Given the description of an element on the screen output the (x, y) to click on. 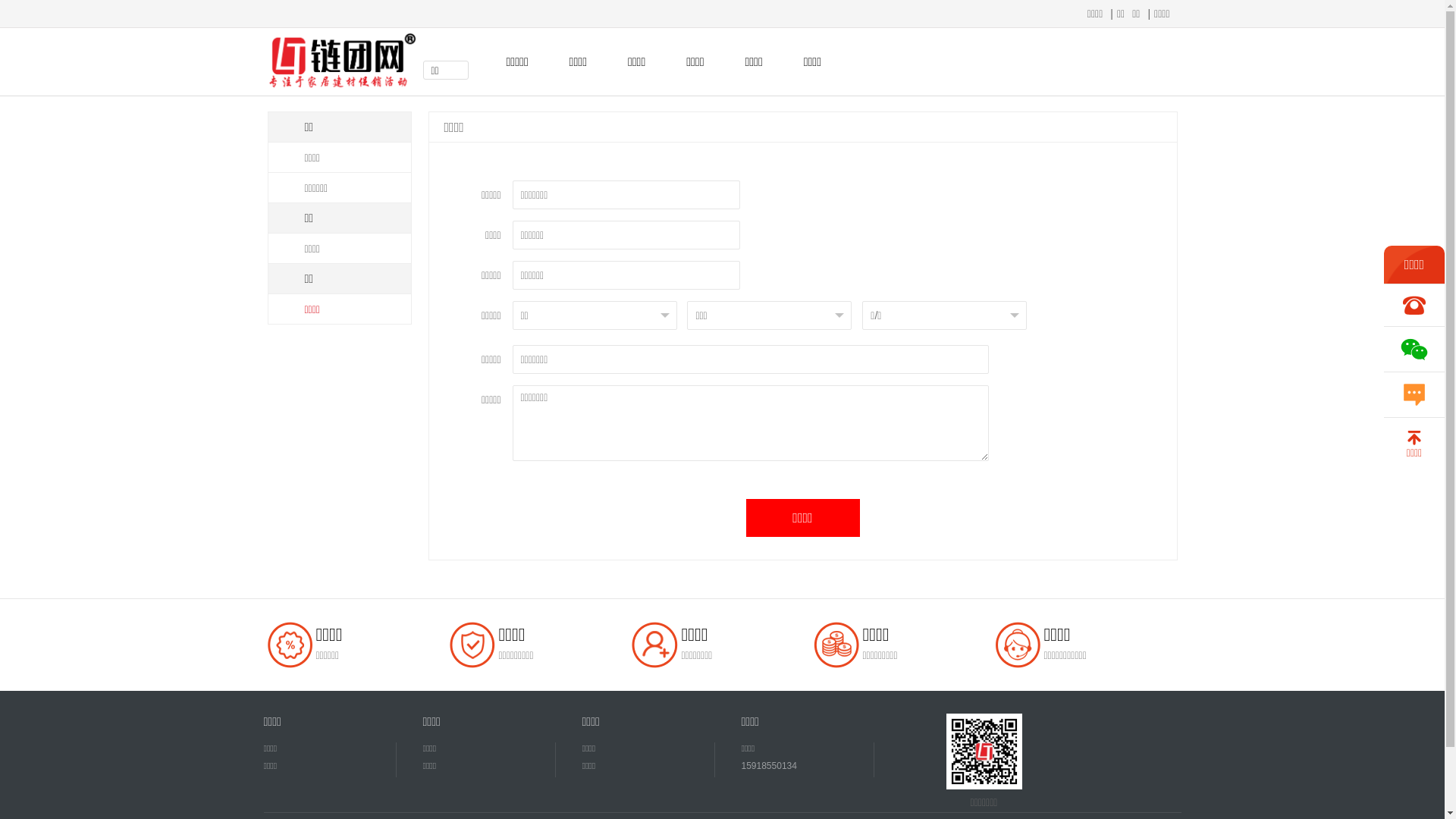
15918550134 Element type: text (785, 765)
